Given the description of an element on the screen output the (x, y) to click on. 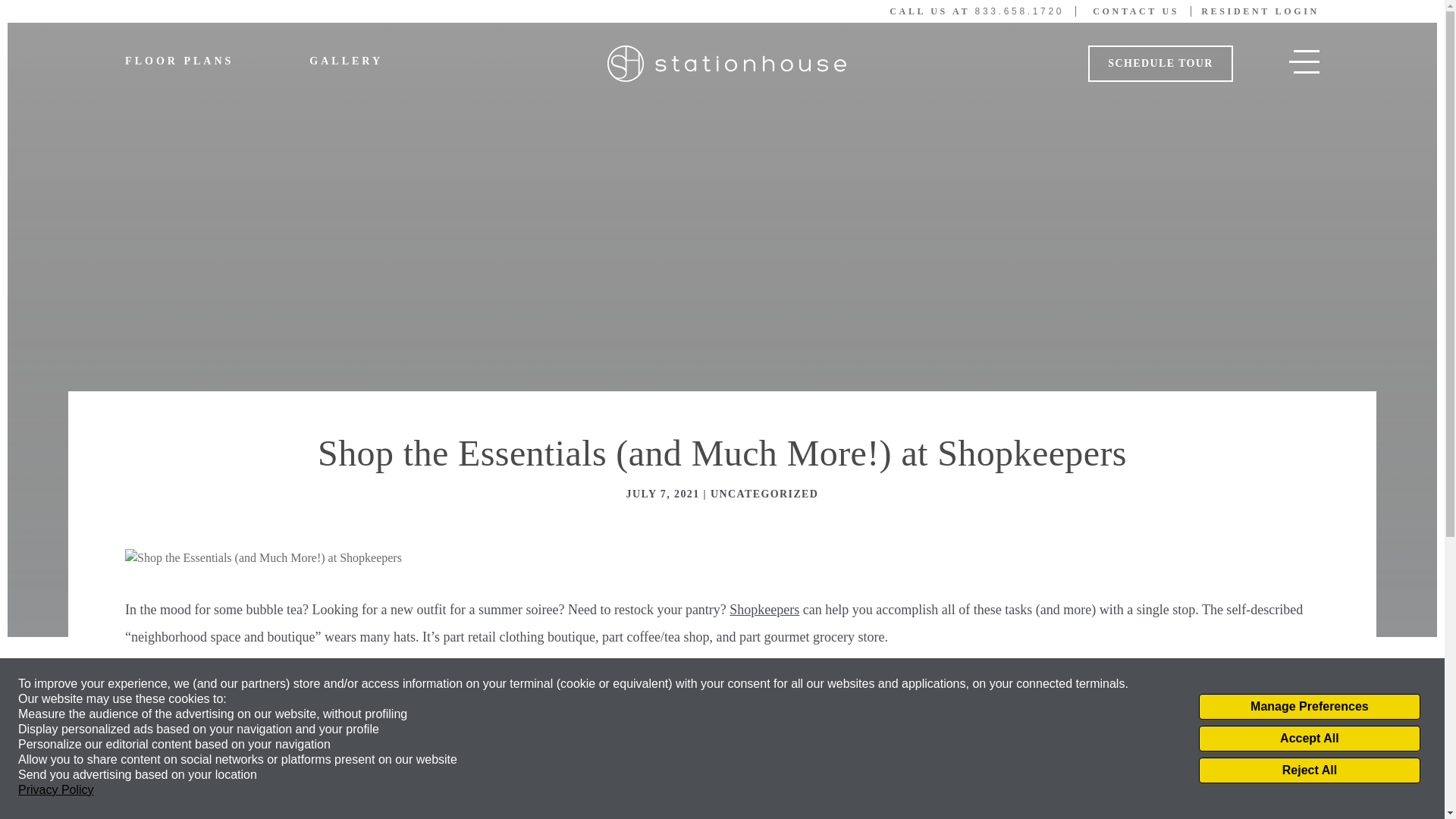
CALL US AT 833.658.1720 (982, 10)
RESIDENT LOGIN (1260, 10)
Back to Blog (187, 815)
Shopkeepers (764, 609)
Reject All (1309, 769)
SCHEDULE TOUR (1160, 63)
FLOOR PLANS (178, 60)
GALLERY (345, 60)
Manage Preferences (1309, 706)
Privacy Policy (55, 789)
